Given the description of an element on the screen output the (x, y) to click on. 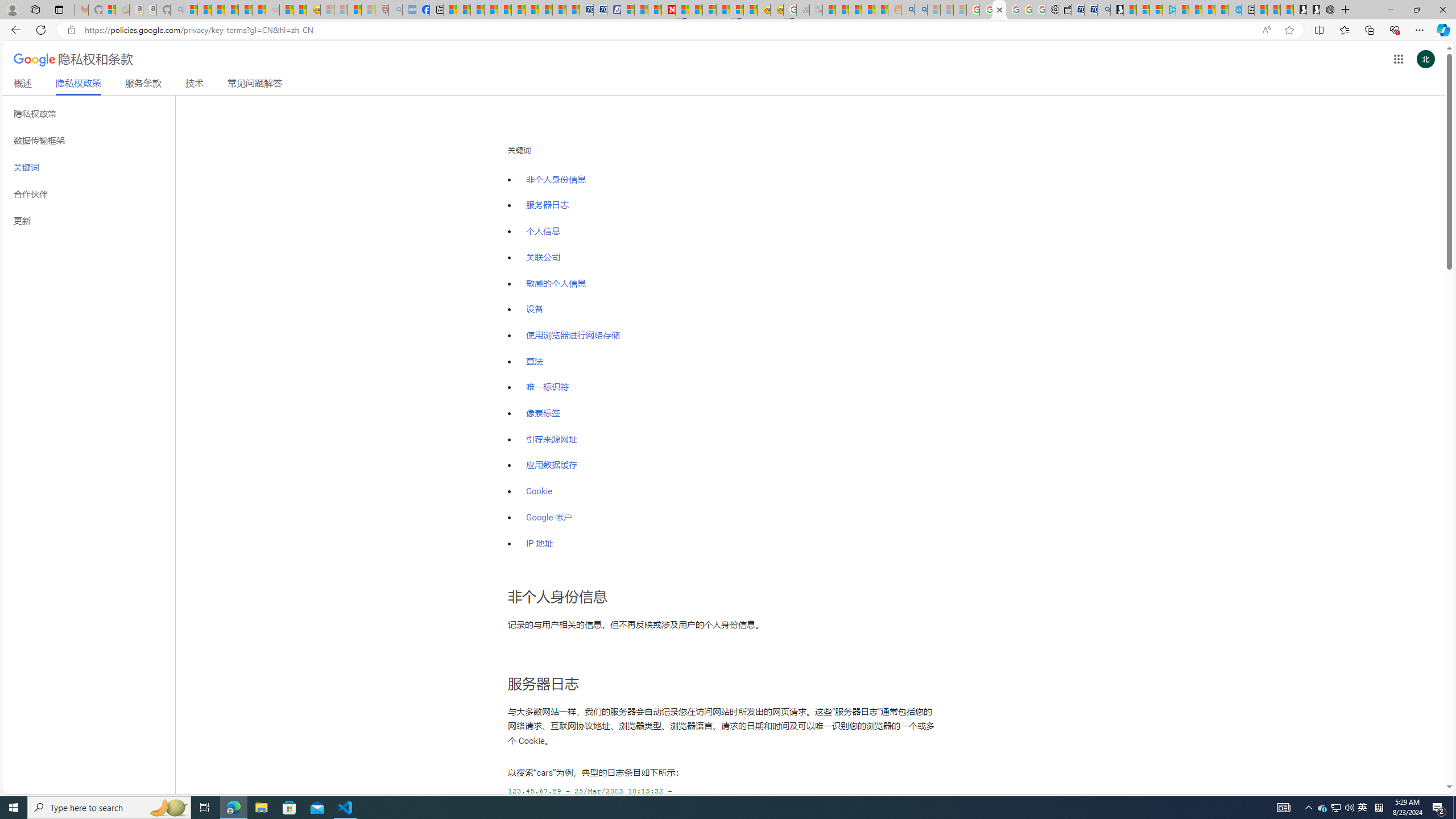
14 Common Myths Debunked By Scientific Facts (695, 9)
Cookie (728, 486)
